Given the description of an element on the screen output the (x, y) to click on. 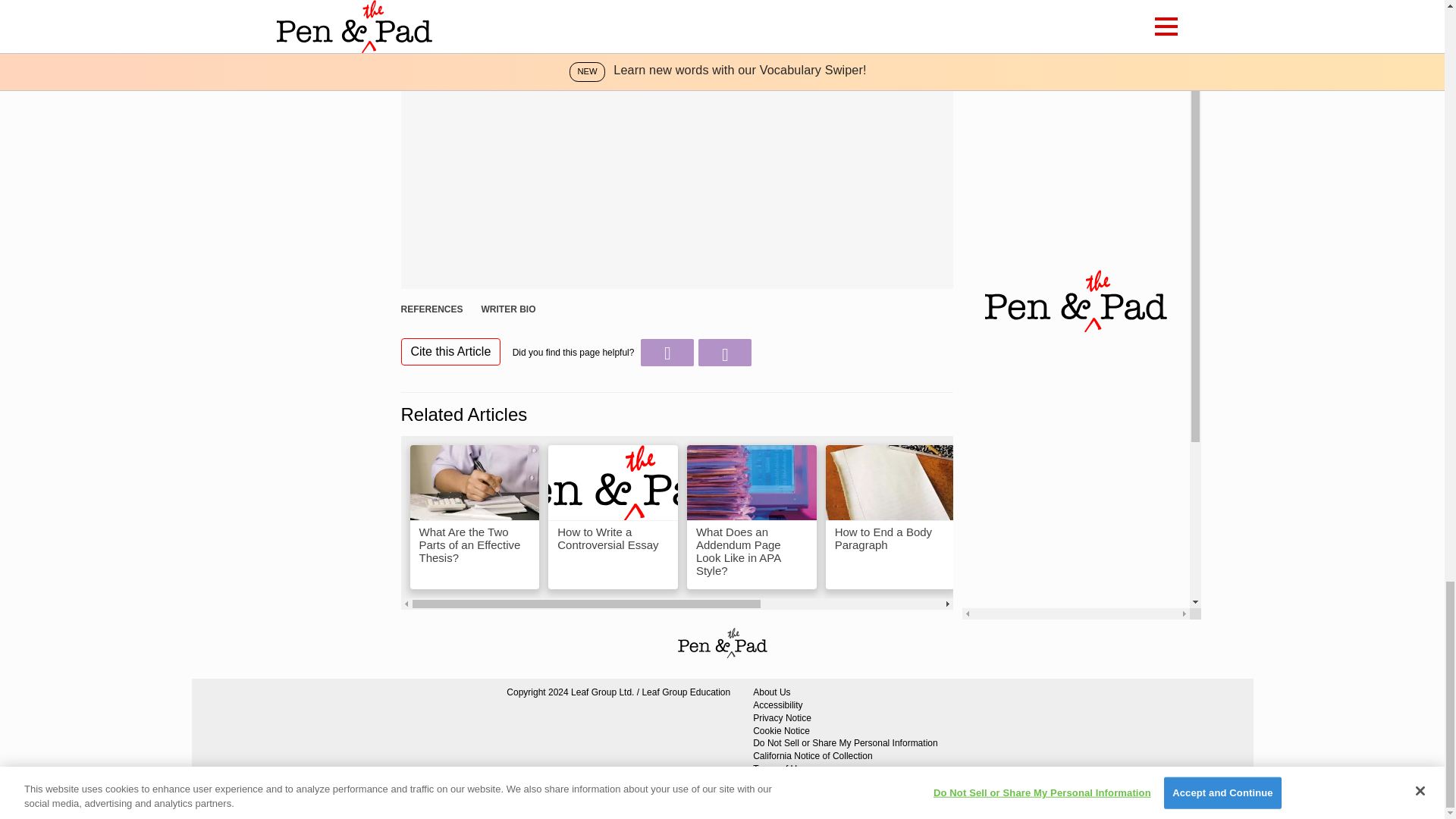
Terms of Use (844, 768)
California Notice of Collection (844, 756)
Accessibility (844, 705)
Cite this Article (450, 351)
What Are the Two Parts of an Effective Thesis? (473, 516)
Cookie Notice (844, 730)
How to End a Body Paragraph (890, 516)
Do Not Sell or Share My Personal Information (844, 743)
Privacy Notice (844, 717)
Copyright Policy (844, 781)
How to Write a Controversial Essay (613, 516)
What Does an Addendum Page Look Like in APA Style? (751, 516)
About Us (844, 692)
